Given the description of an element on the screen output the (x, y) to click on. 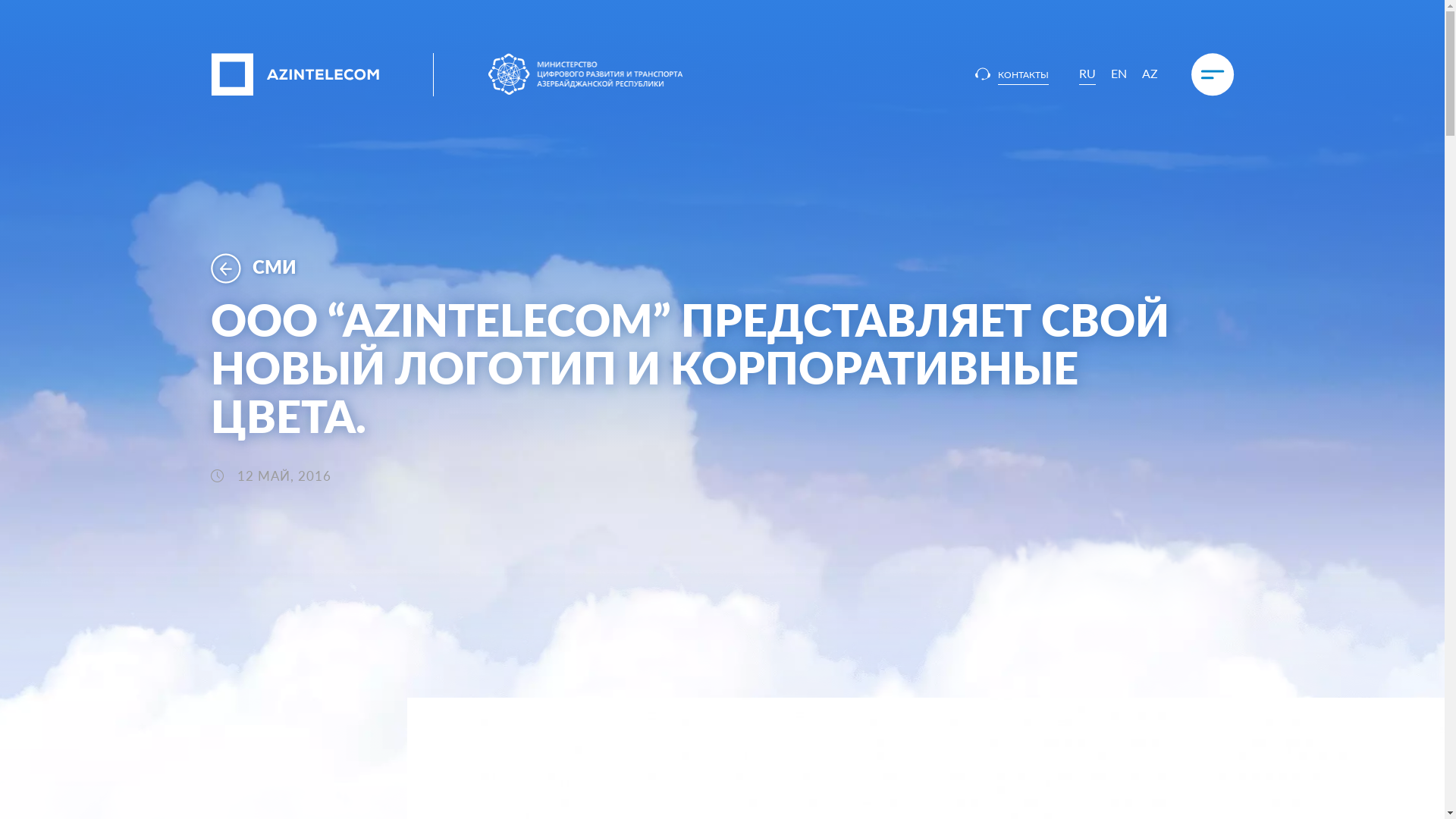
RU Element type: text (1086, 74)
EN Element type: text (1118, 72)
AzInTelecom Element type: hover (294, 70)
AZ Element type: text (1149, 72)
